Given the description of an element on the screen output the (x, y) to click on. 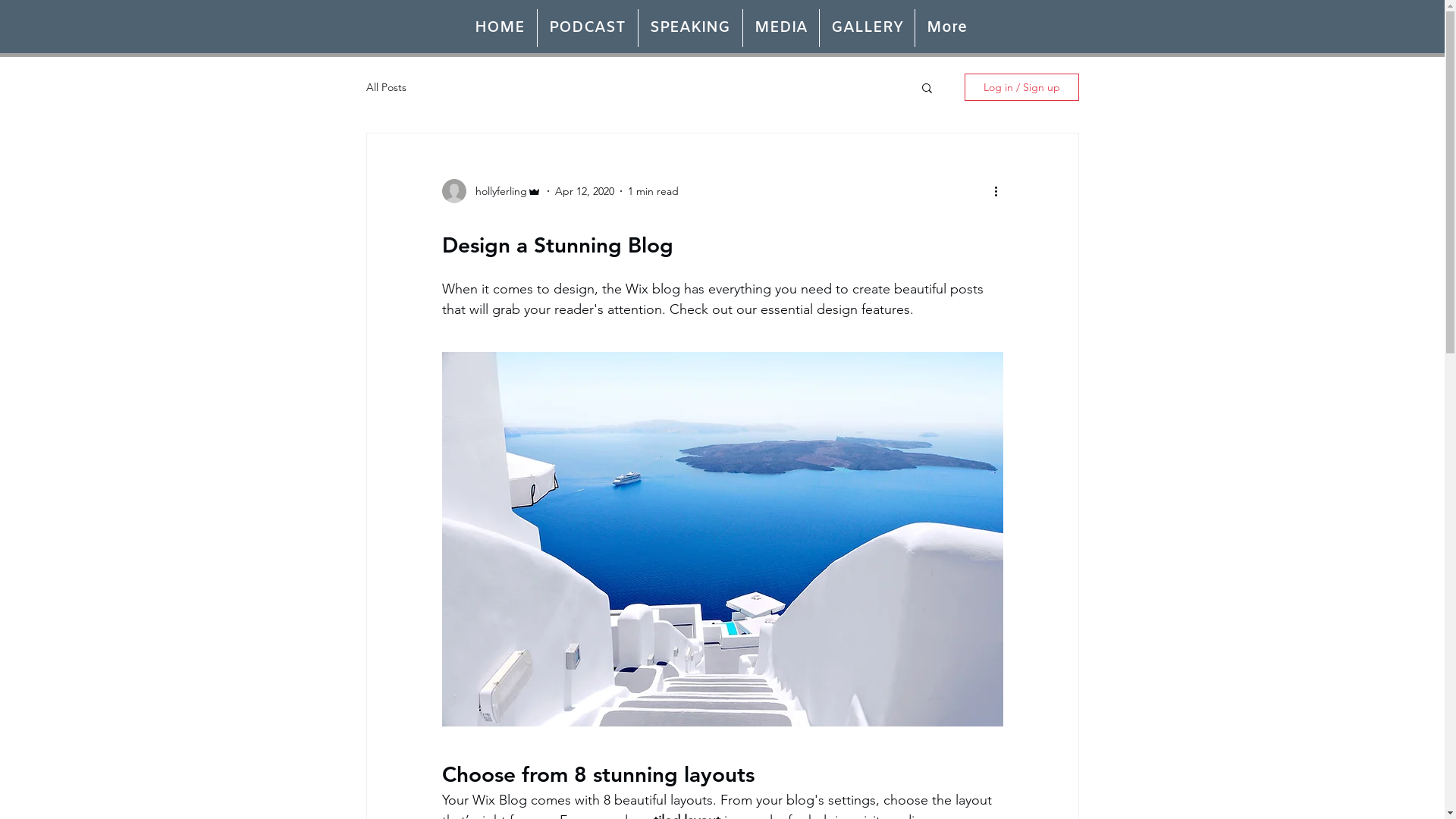
All Posts Element type: text (385, 87)
PODCAST Element type: text (586, 28)
SPEAKING Element type: text (690, 28)
MEDIA Element type: text (781, 28)
GALLERY Element type: text (866, 28)
HOME Element type: text (499, 28)
Log in / Sign up Element type: text (1021, 86)
